Given the description of an element on the screen output the (x, y) to click on. 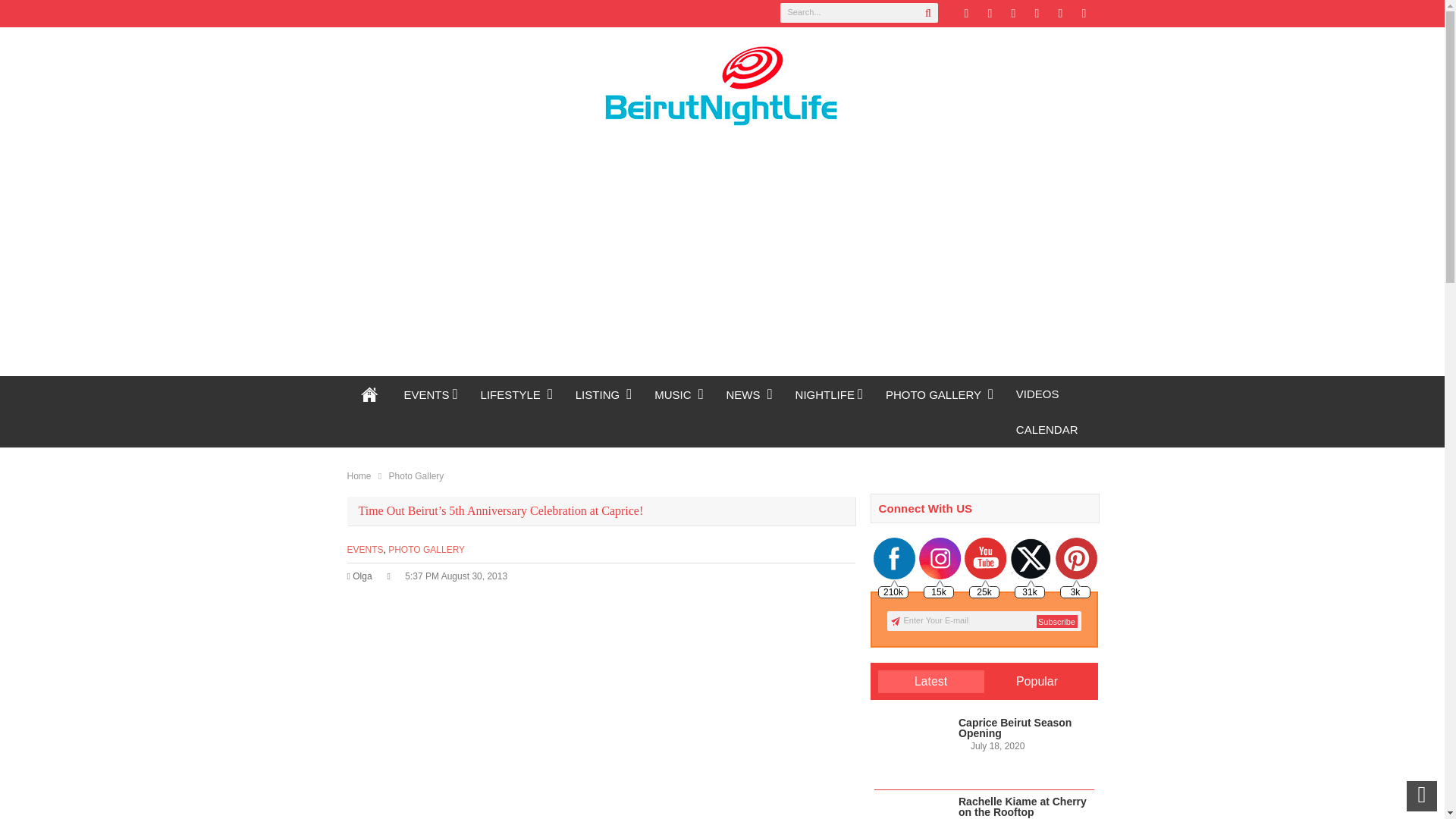
BEIRUTNIGHTLIFE :: BEIRUT THE ONLY WAY IT SHOULD BE (370, 393)
Search... (857, 12)
Enter Your E-mail (983, 620)
Twitter (966, 13)
LISTING (603, 394)
Subscribe (1056, 621)
MUSIC (678, 394)
Youtube (1083, 13)
Facebook (988, 13)
Pinterest (1013, 13)
LIFESTYLE (516, 394)
EVENTS (430, 394)
Search... (857, 12)
RSS (1036, 13)
